Given the description of an element on the screen output the (x, y) to click on. 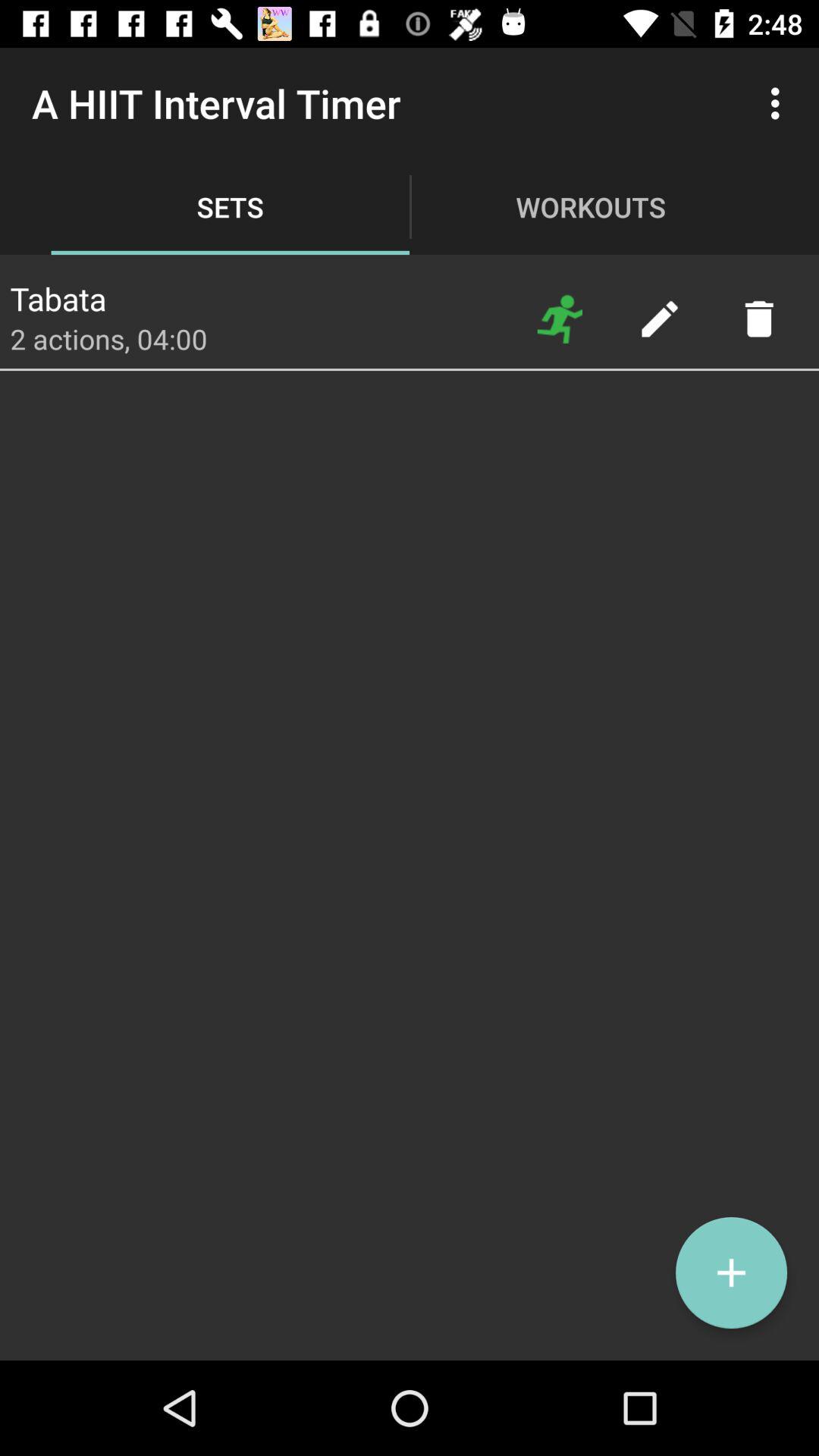
edit selection (659, 318)
